Given the description of an element on the screen output the (x, y) to click on. 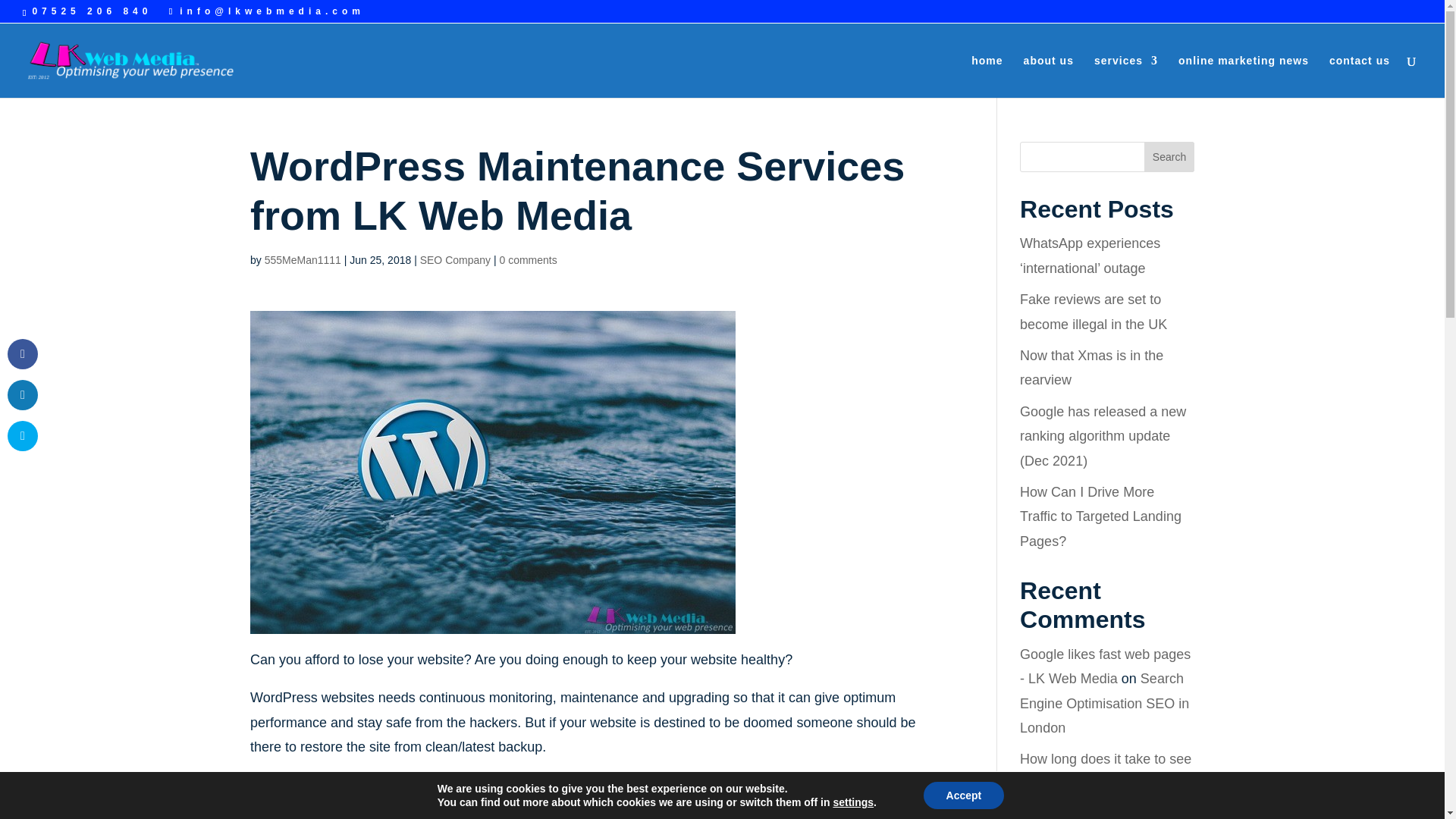
555MeMan1111 (302, 259)
contact us (1359, 76)
Now that Xmas is in the rearview (1091, 367)
Search (1168, 156)
SEO Company (455, 259)
How Can I Drive More Traffic to Targeted Landing Pages? (1100, 516)
0 comments (527, 259)
Google likes fast web pages - LK Web Media (1105, 666)
services (1125, 76)
